Given the description of an element on the screen output the (x, y) to click on. 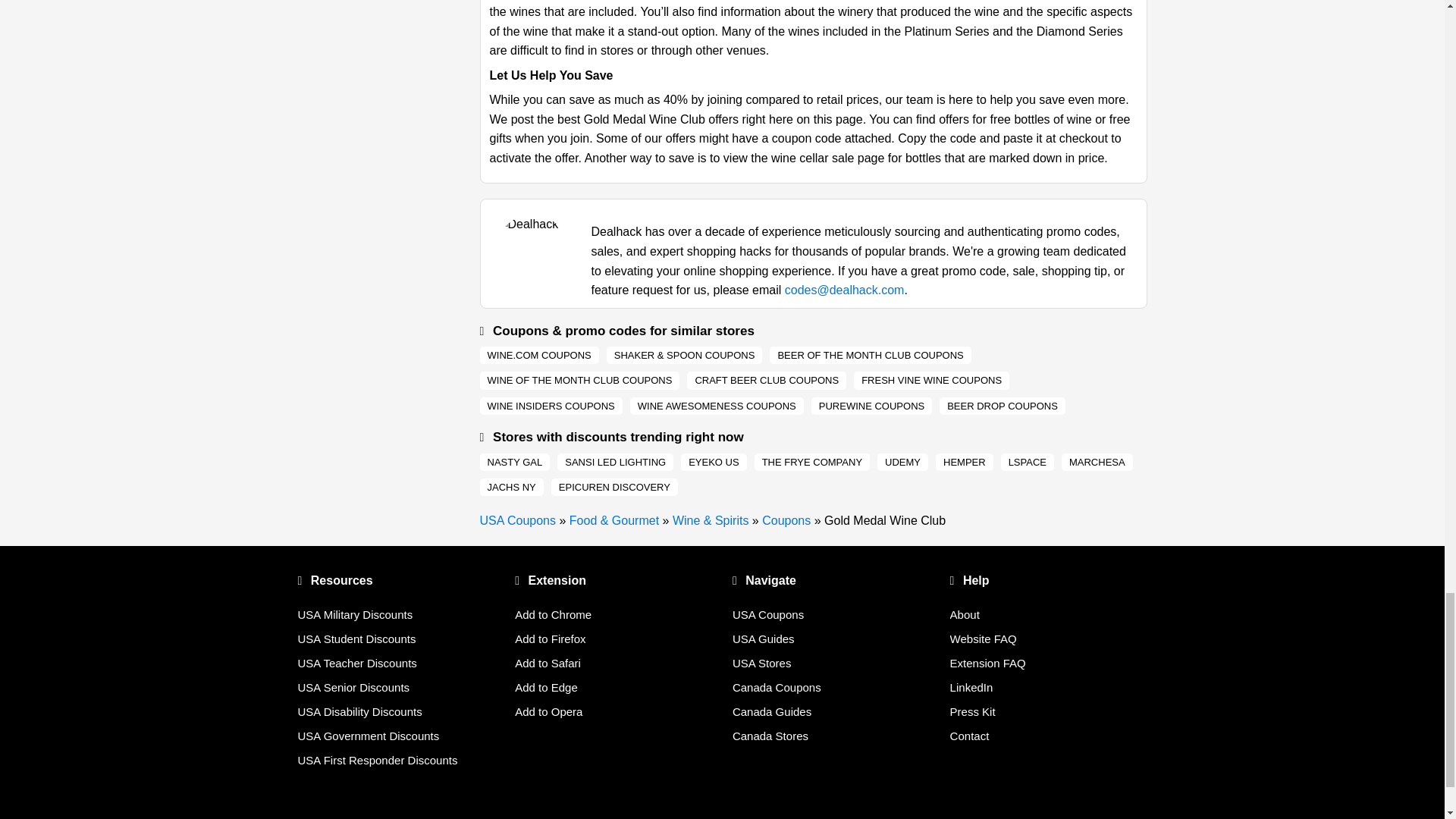
Dealhack (517, 520)
Coupons (785, 520)
